Given the description of an element on the screen output the (x, y) to click on. 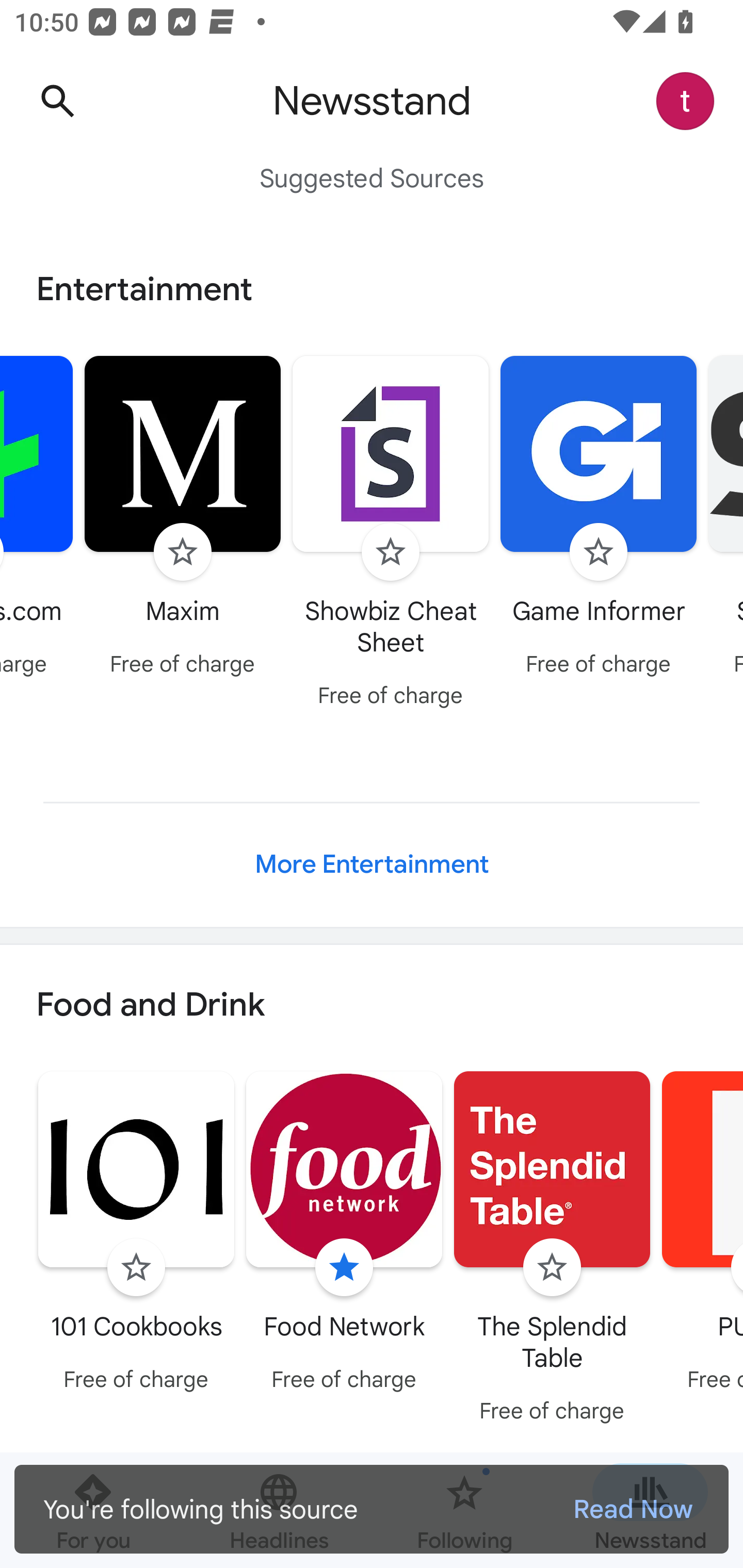
Search (57, 100)
Entertainment (371, 288)
Follow Maxim Free of charge (182, 517)
Follow Showbiz Cheat Sheet Free of charge (390, 534)
Follow Game Informer Free of charge (598, 517)
Follow (182, 551)
Follow (390, 551)
Follow (598, 551)
More Entertainment (371, 864)
Food and Drink (371, 1005)
Follow 101 Cookbooks Free of charge (136, 1234)
Unfollow Food Network Free of charge (344, 1234)
Follow The Splendid Table Free of charge (552, 1250)
Follow (135, 1267)
Unfollow (343, 1267)
Follow (552, 1267)
Read Now (632, 1509)
